Given the description of an element on the screen output the (x, y) to click on. 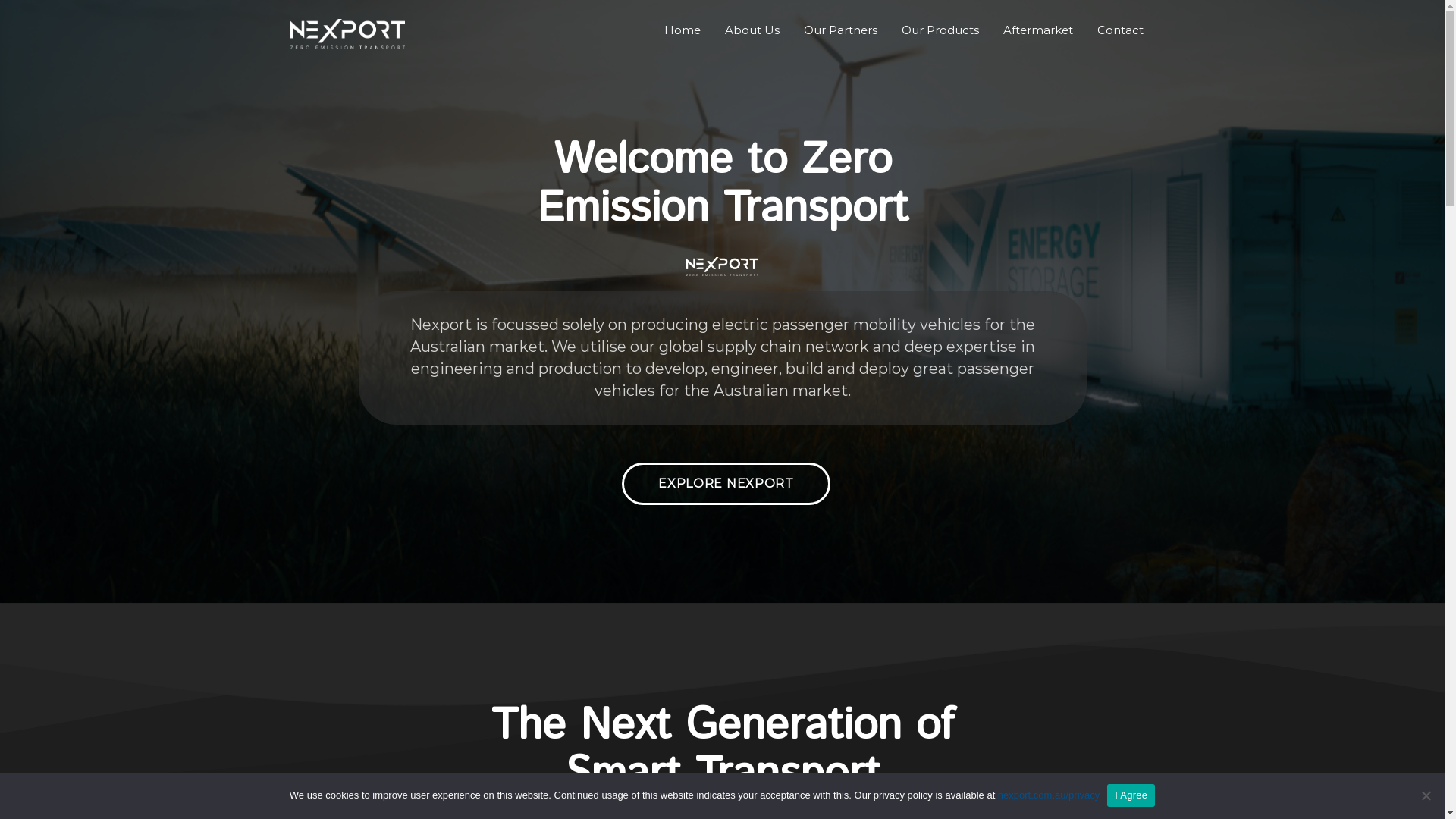
nexport.com.au/privacy Element type: text (1048, 794)
Aftermarket Element type: text (1037, 30)
Our Products Element type: text (939, 30)
Contact Element type: text (1119, 30)
nexport logo WHITE_NN100mm Element type: hover (722, 266)
Our Partners Element type: text (840, 30)
No Element type: hover (1425, 795)
Home Element type: text (682, 30)
About Us Element type: text (751, 30)
EXPLORE NEXPORT Element type: text (725, 483)
I Agree Element type: text (1130, 795)
